Given the description of an element on the screen output the (x, y) to click on. 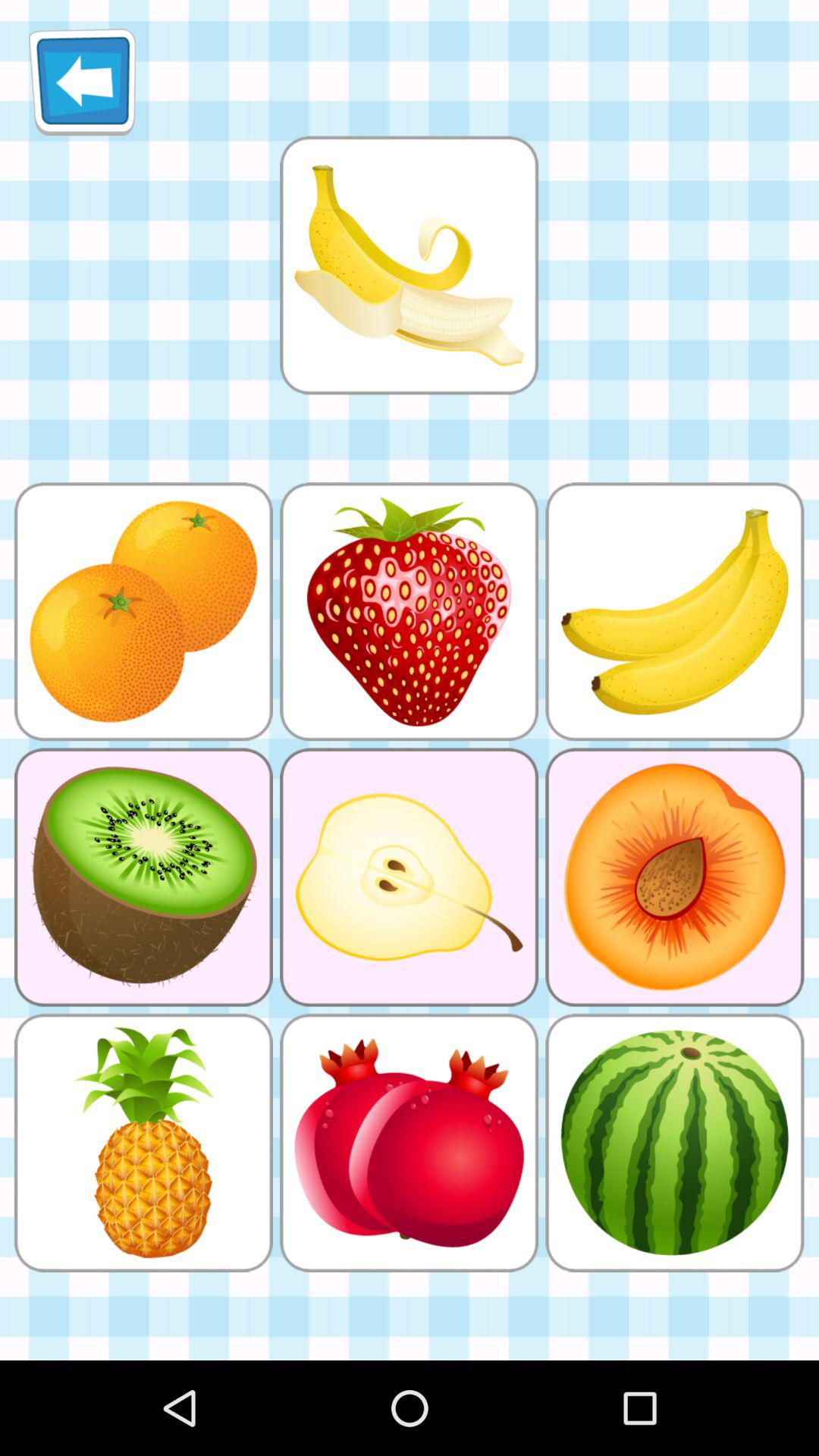
select peeled banana (409, 265)
